Given the description of an element on the screen output the (x, y) to click on. 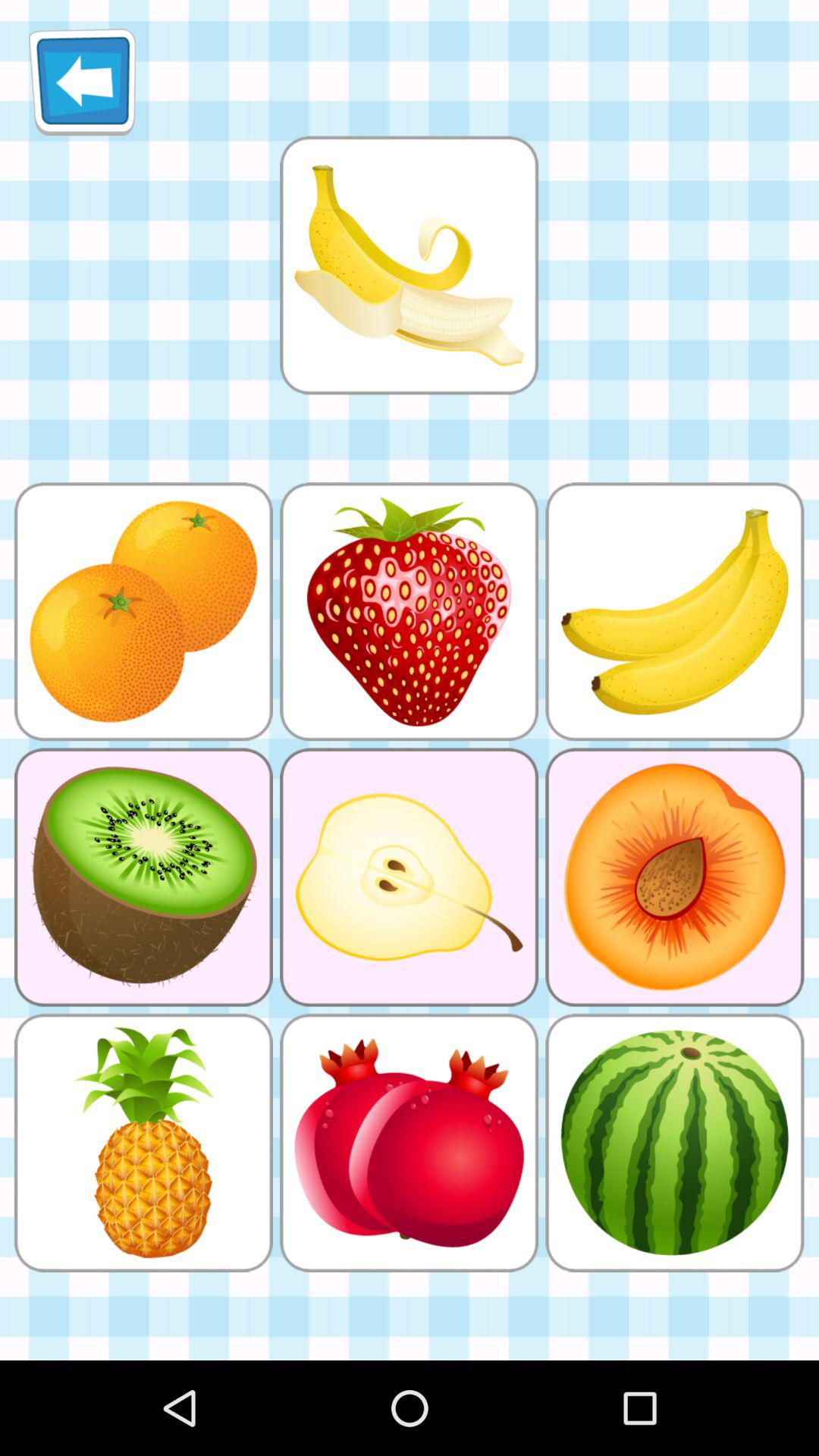
select peeled banana (409, 265)
